Given the description of an element on the screen output the (x, y) to click on. 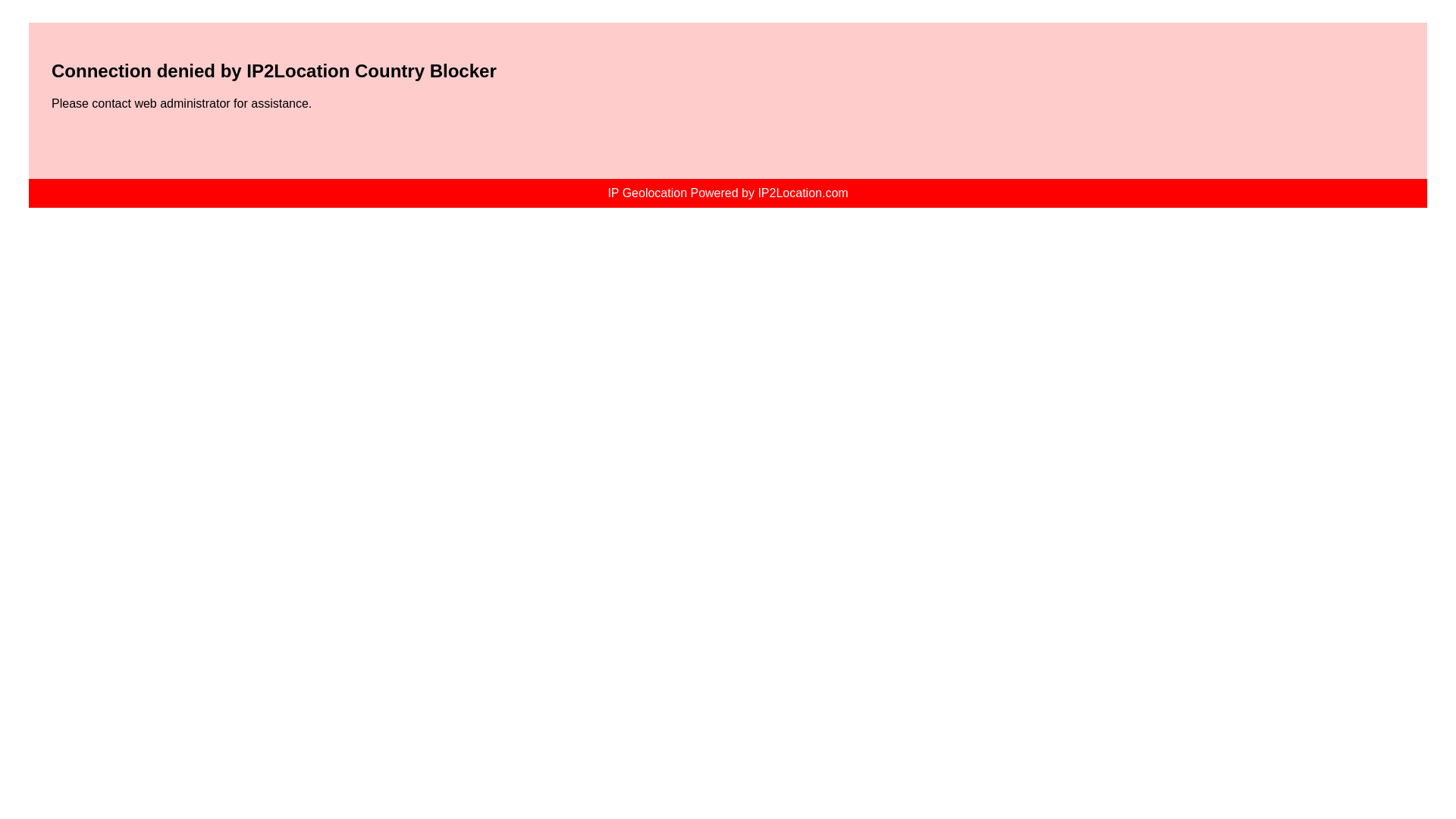
IP Geolocation Powered by IP2Location.com (727, 192)
